Given the description of an element on the screen output the (x, y) to click on. 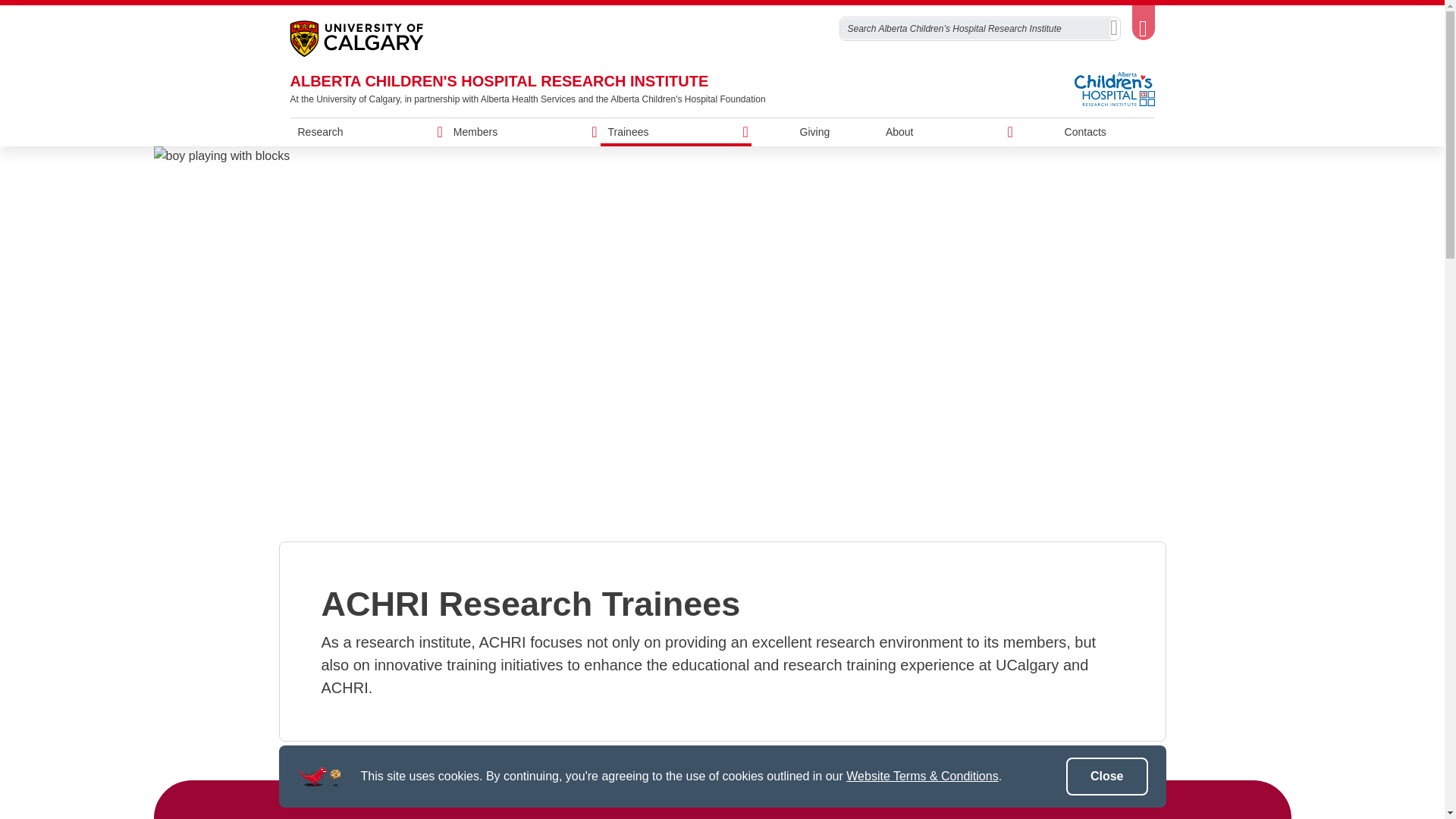
Search (1113, 28)
Close (1106, 776)
Toggle Toolbox (1142, 20)
